Given the description of an element on the screen output the (x, y) to click on. 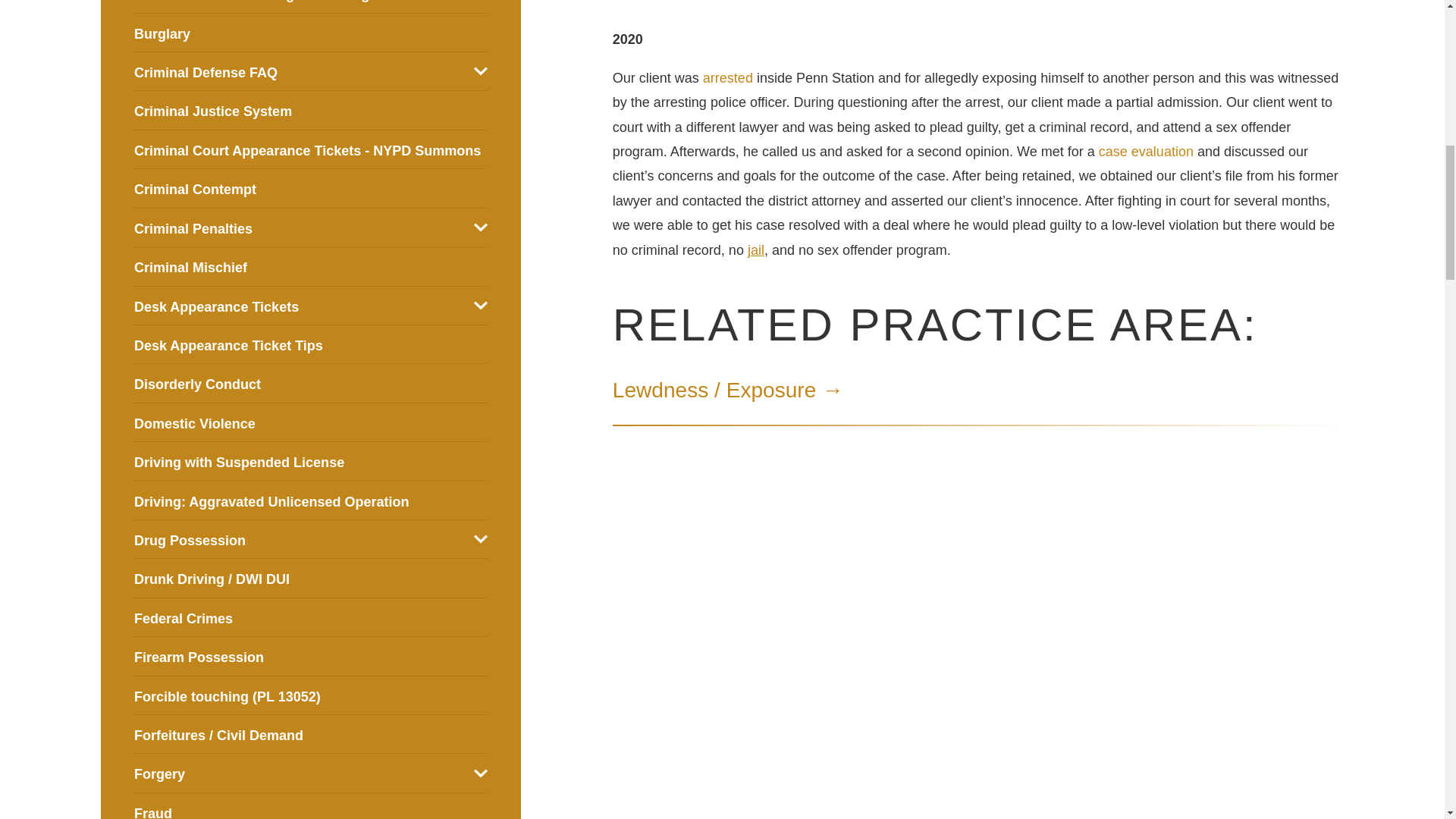
Open child menu of Forgery (480, 773)
Open child menu of Criminal Penalties (480, 227)
Open child menu of Desk Appearance Tickets (480, 305)
Open child menu of Criminal Defense FAQ (480, 70)
Open child menu of Drug Possession (480, 539)
